Given the description of an element on the screen output the (x, y) to click on. 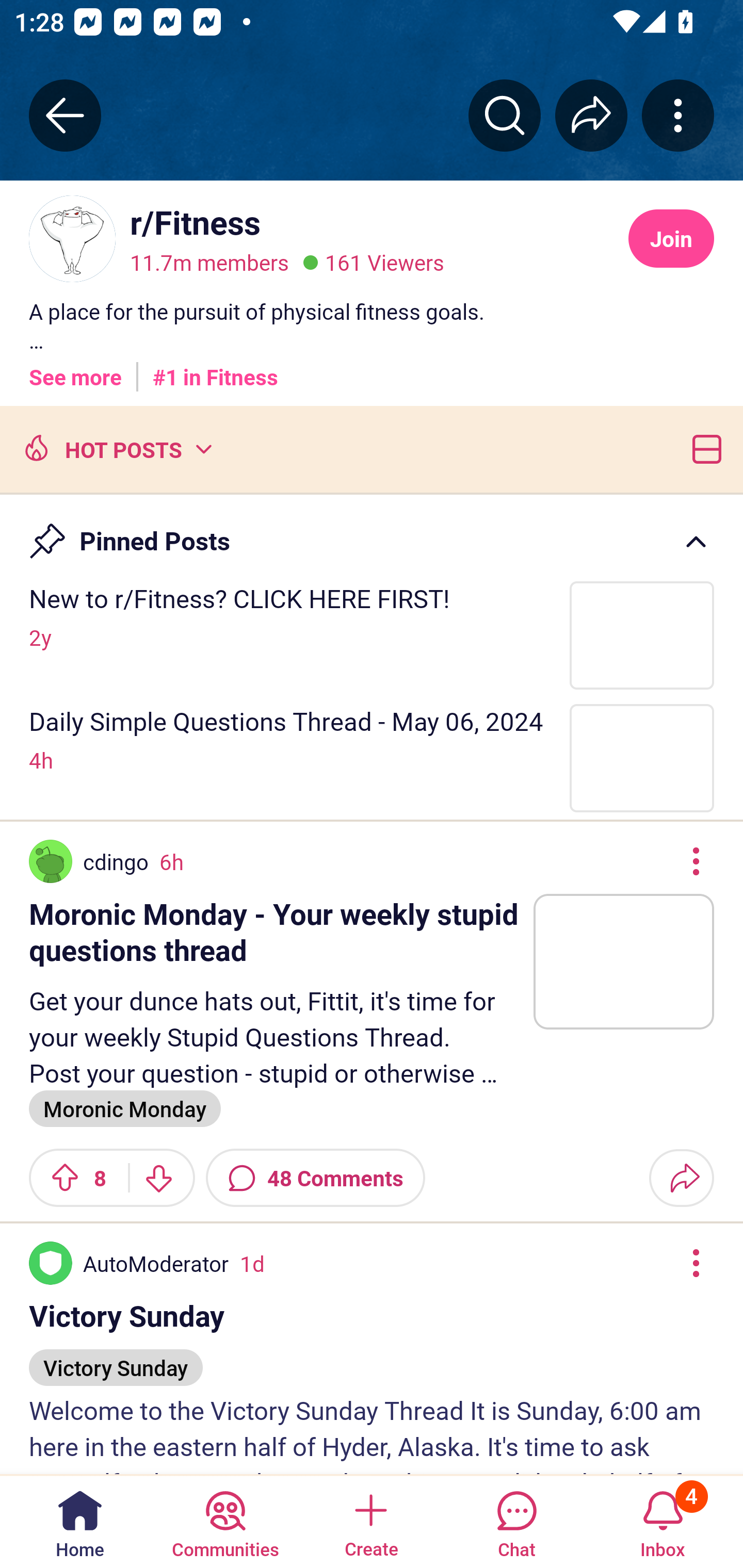
Back (64, 115)
Search r/﻿Fitness (504, 115)
Share r/﻿Fitness (591, 115)
More community actions (677, 115)
See more (74, 369)
#1 in Fitness (215, 369)
Hot posts HOT POSTS (116, 448)
Card (703, 448)
Pin Pinned Posts Caret (371, 531)
New to r/Fitness? CLICK HERE FIRST! 2y Thumbnail (371, 634)
Moronic Monday (124, 1107)
Victory Sunday (115, 1358)
Home (80, 1520)
Communities (225, 1520)
Create a post Create (370, 1520)
Chat (516, 1520)
Inbox, has 4 notifications 4 Inbox (662, 1520)
